Given the description of an element on the screen output the (x, y) to click on. 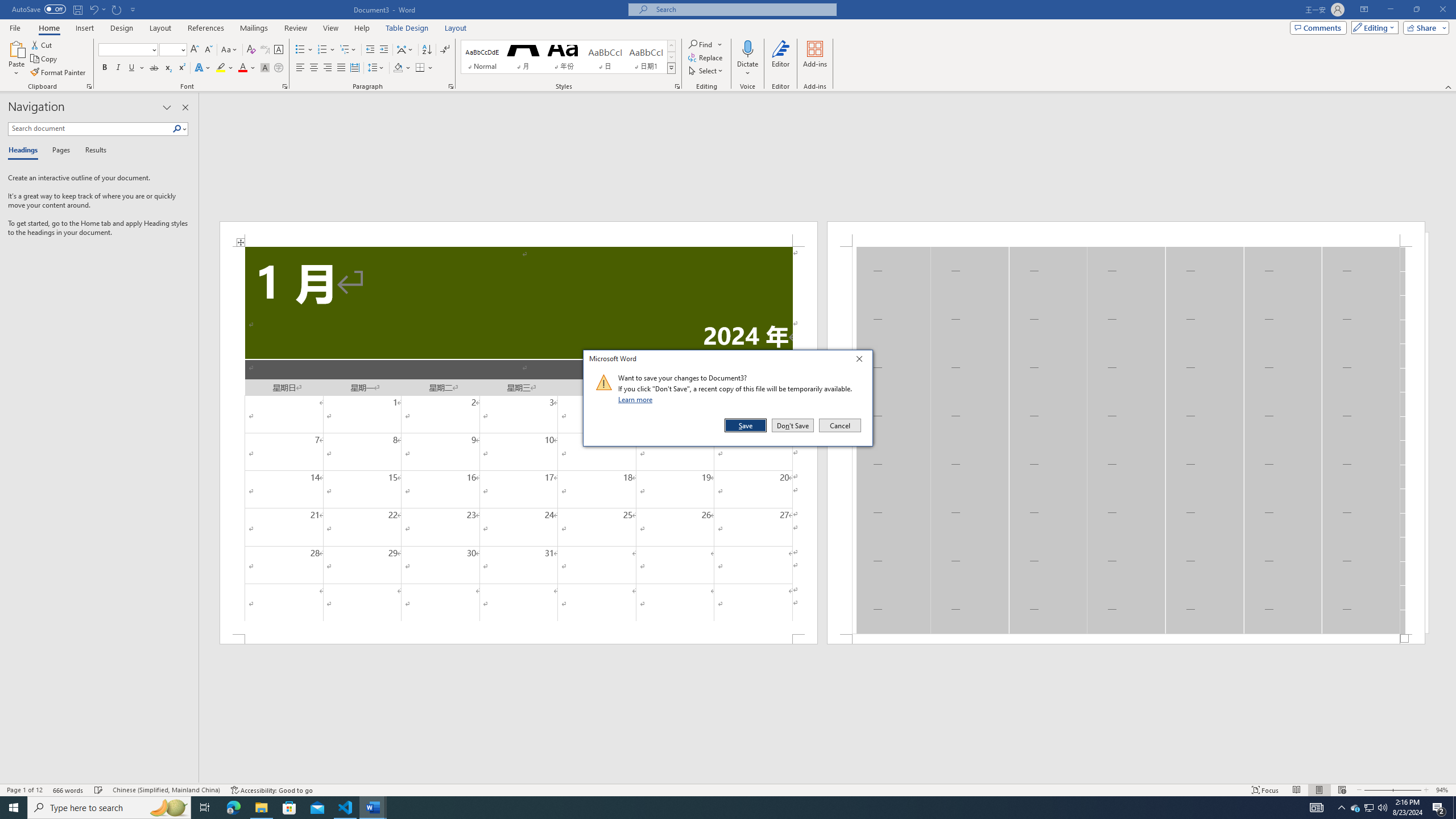
Spelling and Grammar Check Checking (98, 790)
